Given the description of an element on the screen output the (x, y) to click on. 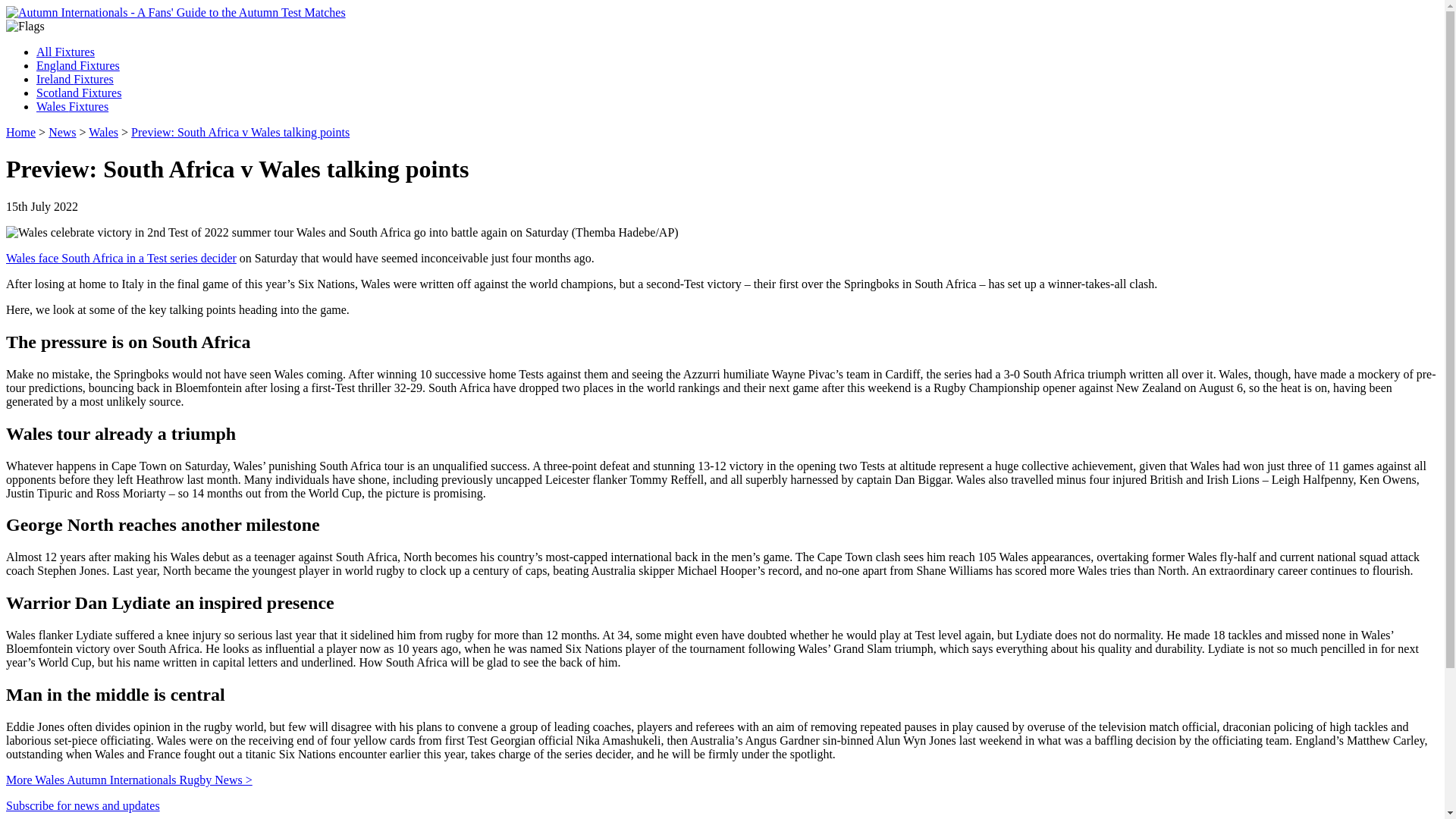
Home (19, 132)
South Africa v Wales (120, 257)
Wales face South Africa in a Test series decider (120, 257)
England Fixtures (77, 65)
All Fixtures (65, 51)
Preview: South Africa v Wales talking points (240, 132)
Wales Autumn International Fixtures 2024 (71, 106)
News (61, 132)
Scotland Fixtures (78, 92)
Ireland Autumn International Fixtures 2024 (74, 78)
Scotland Autumn International Fixtures 2024 (78, 92)
Subscribe for news and updates (82, 805)
Wales (102, 132)
England Autumn International Fixtures 2024 (77, 65)
Ireland Fixtures (74, 78)
